Given the description of an element on the screen output the (x, y) to click on. 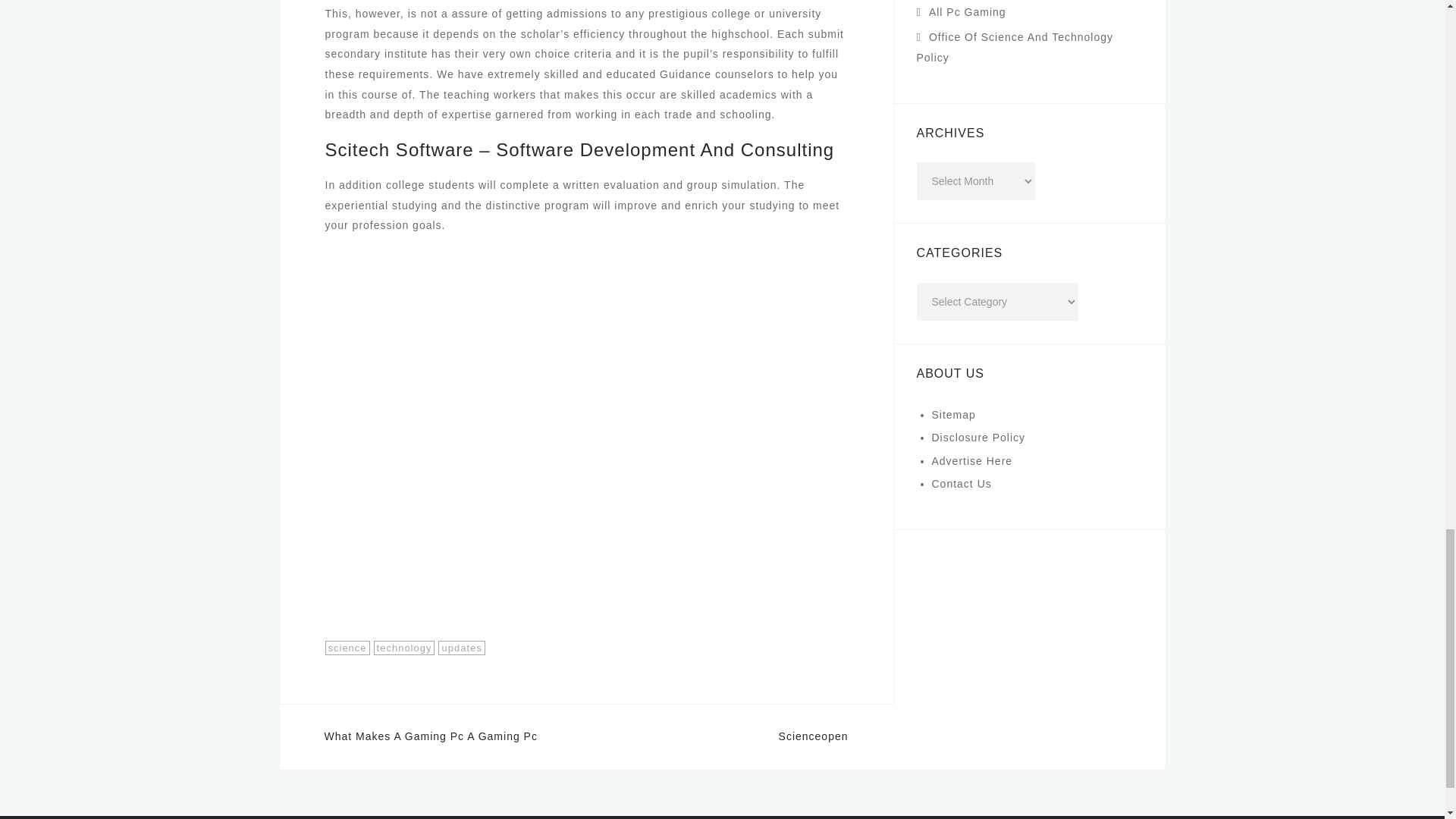
updates (461, 647)
technology (404, 647)
Scienceopen (813, 736)
science (346, 647)
What Makes A Gaming Pc A Gaming Pc (430, 736)
